Given the description of an element on the screen output the (x, y) to click on. 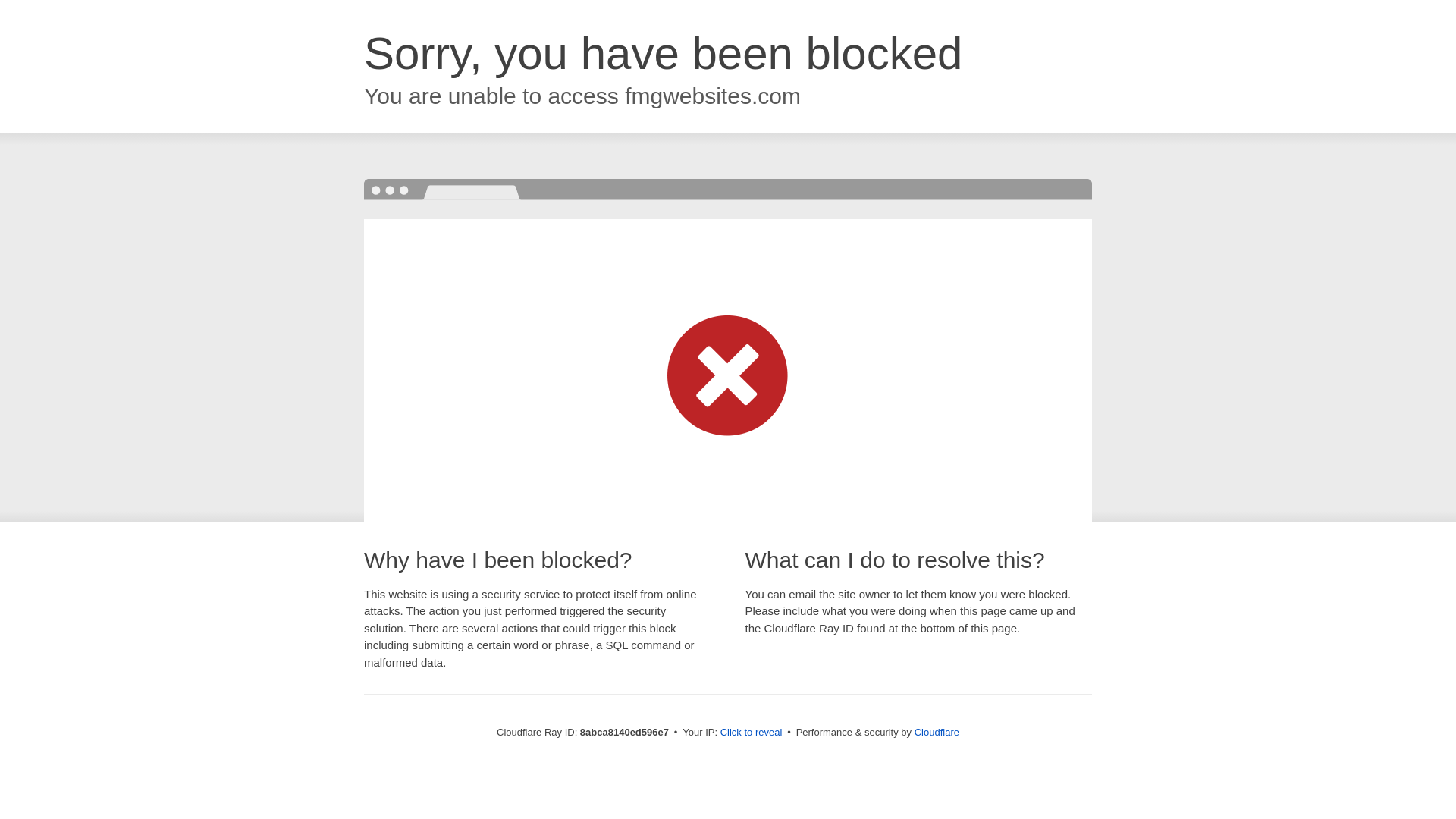
Cloudflare (936, 731)
Click to reveal (751, 732)
